Given the description of an element on the screen output the (x, y) to click on. 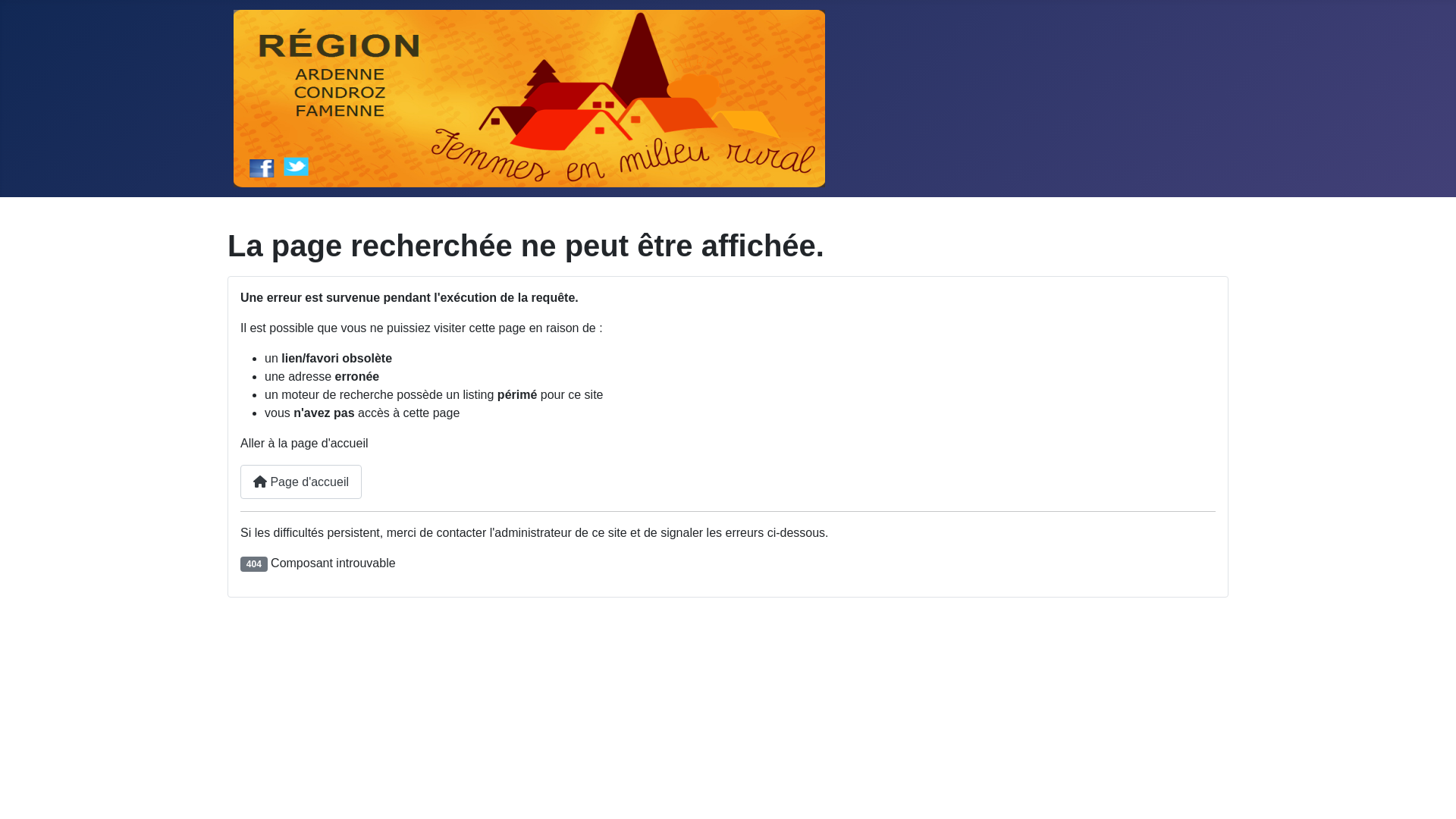
Page d'accueil Element type: text (300, 481)
